Given the description of an element on the screen output the (x, y) to click on. 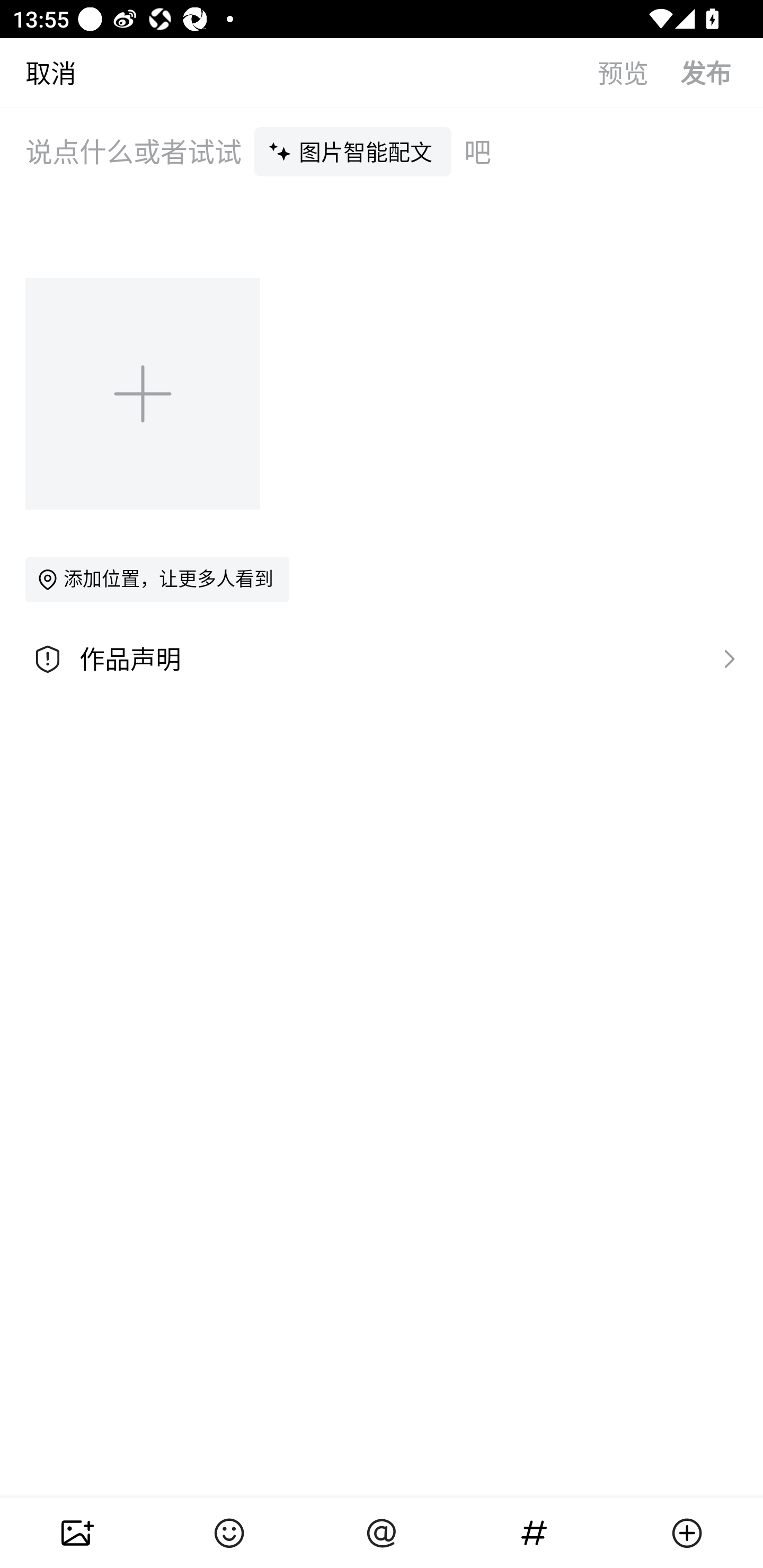
取消 (38, 71)
预览 (638, 71)
发布 (721, 71)
图片智能配文 (352, 151)
添加图片 (144, 393)
添加位置，让更多人看到 (157, 579)
作品声明 高级设置 作品声明 高级设置 (381, 658)
高级设置 (724, 658)
相册 (76, 1532)
表情 (228, 1532)
at (381, 1532)
话题 (533, 1532)
更多 (686, 1532)
